Given the description of an element on the screen output the (x, y) to click on. 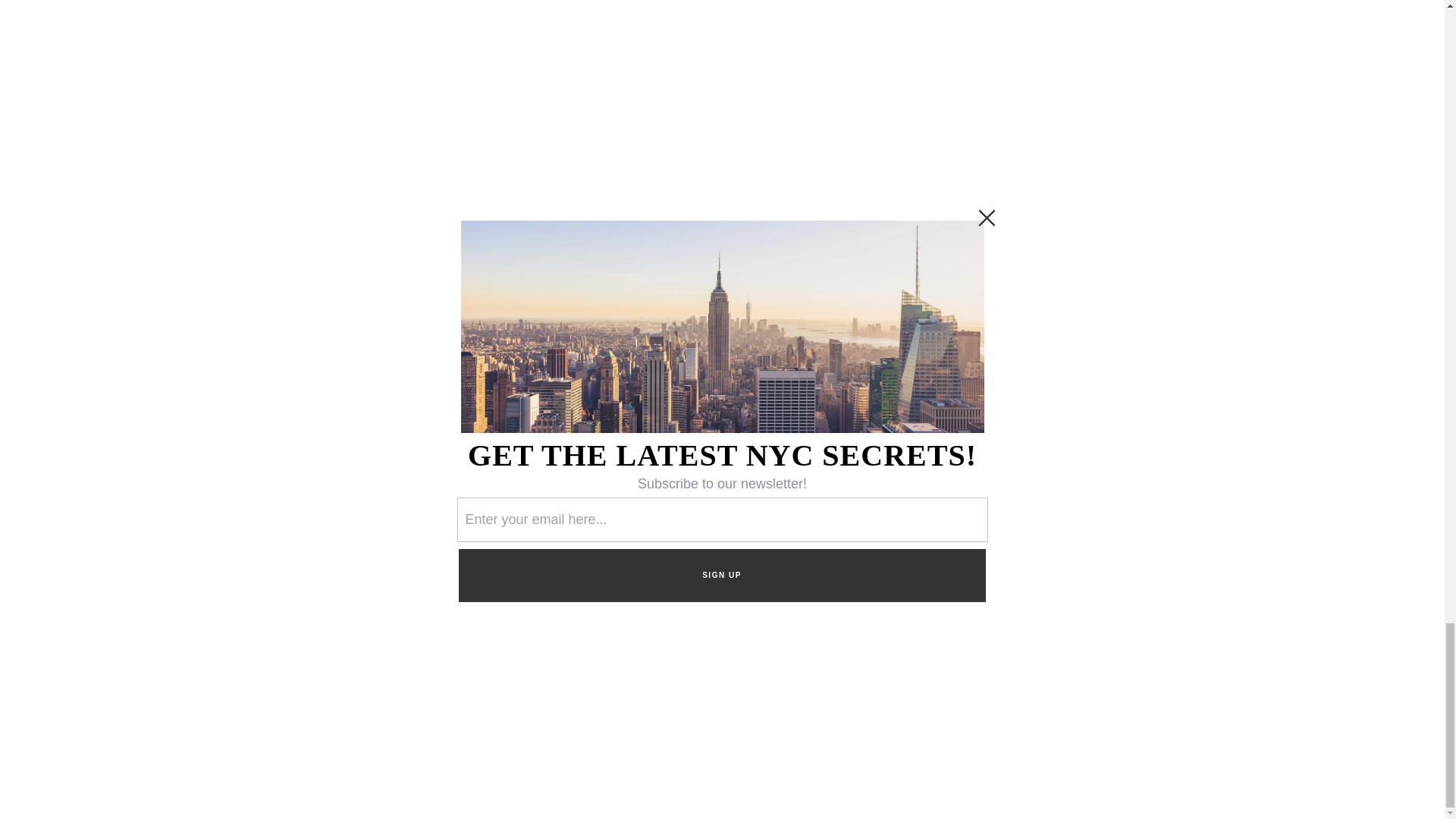
Sign up (1023, 349)
7cff6a70fd (1024, 307)
e99a09560c (984, 307)
